Given the description of an element on the screen output the (x, y) to click on. 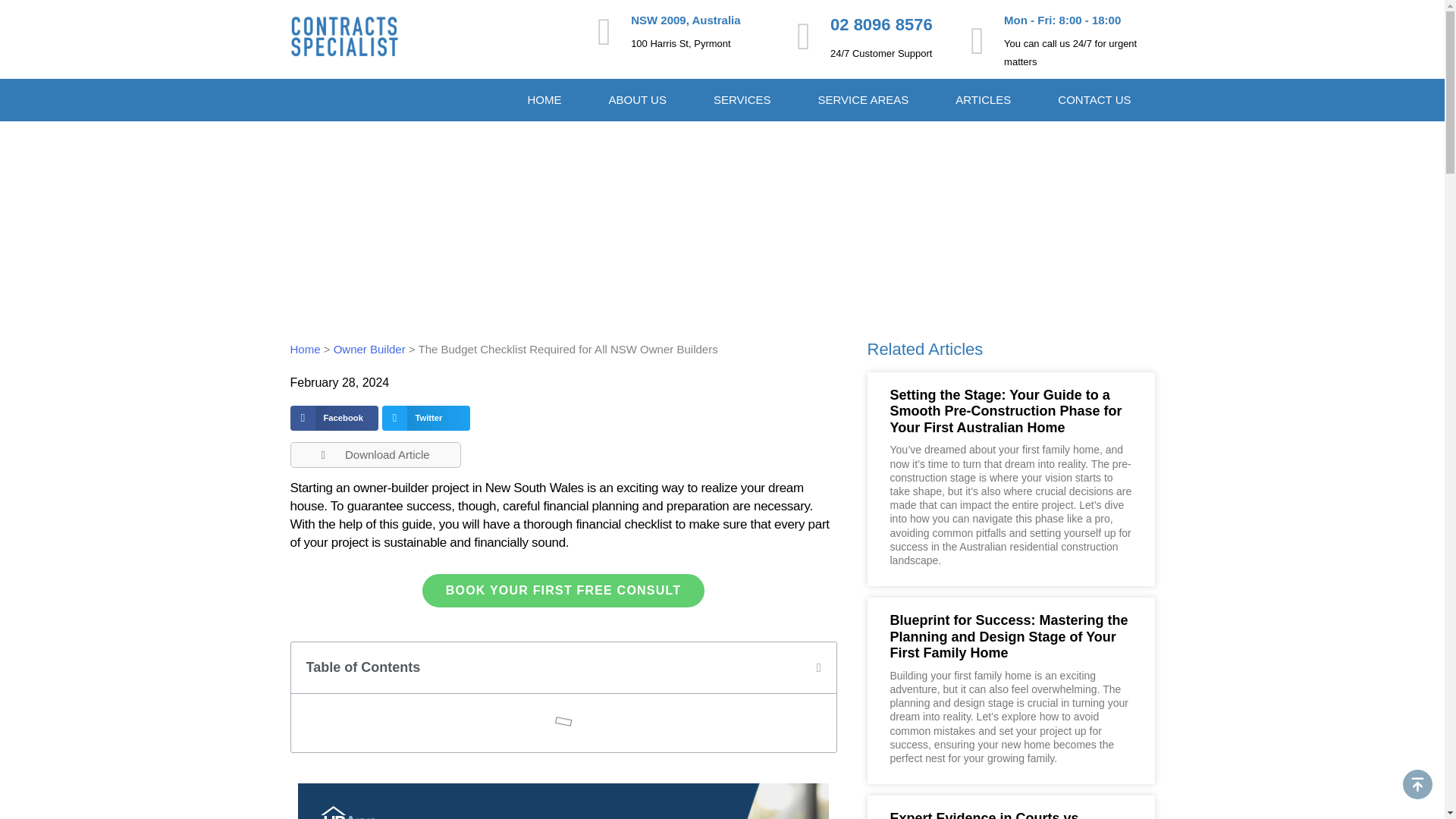
BOOK YOUR FIRST FREE CONSULT (563, 590)
Download Article (374, 454)
HOME (544, 99)
SERVICES (742, 99)
ARTICLES (982, 99)
Owner Builder (369, 349)
SERVICE AREAS (862, 99)
CONTACT US (1093, 99)
02 8096 8576 (881, 24)
Home (304, 349)
